Given the description of an element on the screen output the (x, y) to click on. 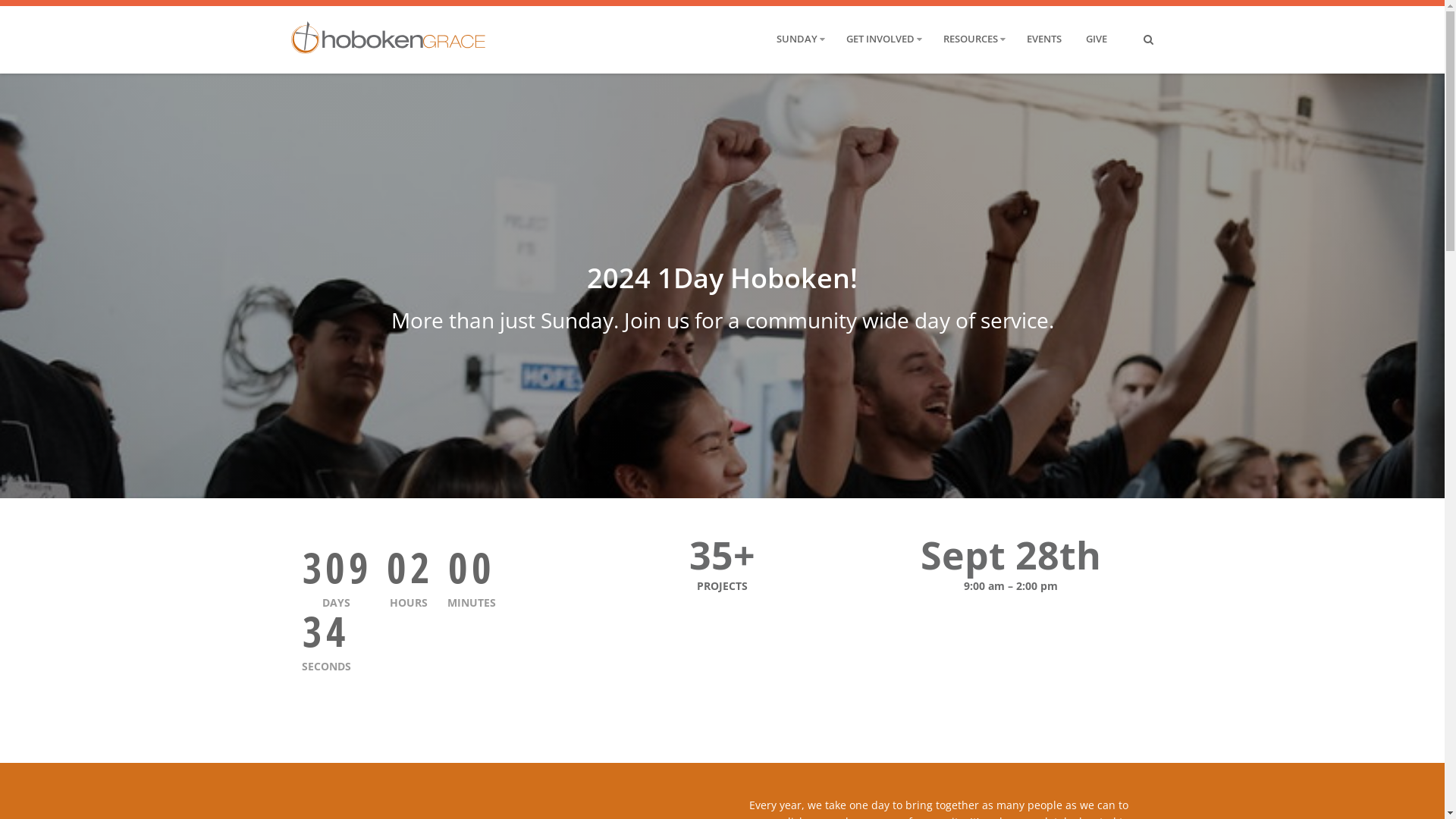
EVENTS Element type: text (1043, 39)
RESOURCES Element type: text (970, 39)
SUNDAY Element type: text (796, 39)
GET INVOLVED Element type: text (880, 39)
GIVE Element type: text (1096, 39)
